Given the description of an element on the screen output the (x, y) to click on. 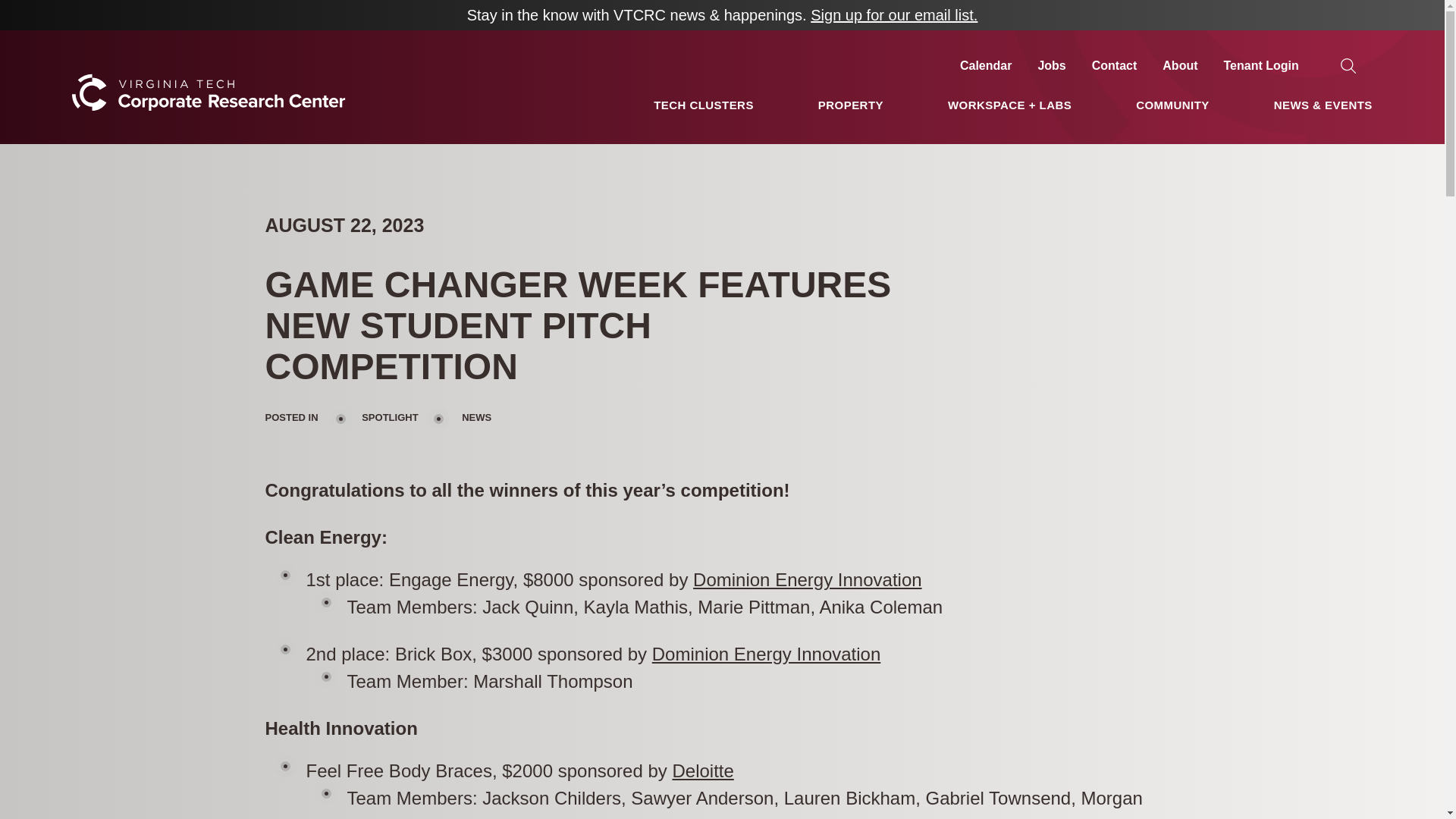
Calendar (985, 65)
Jobs (1050, 65)
Virginia Tech Corporate Research Center (207, 137)
Search (32, 12)
COMMUNITY (1172, 105)
Contact (1114, 65)
About (1178, 65)
Tenant Login (1261, 65)
PROPERTY (850, 105)
TECH CLUSTERS (703, 105)
Sign up for our email list. (893, 14)
